Given the description of an element on the screen output the (x, y) to click on. 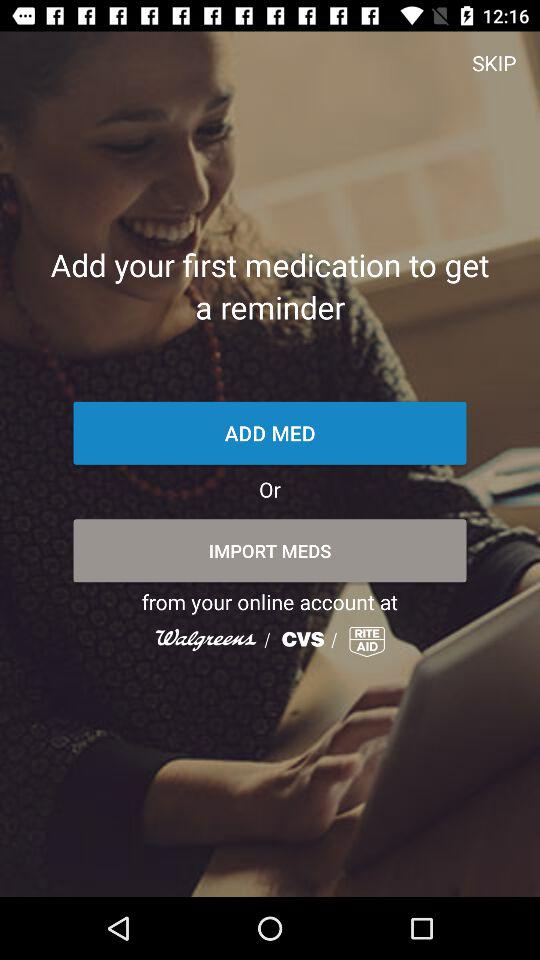
swipe until the add med (269, 432)
